Given the description of an element on the screen output the (x, y) to click on. 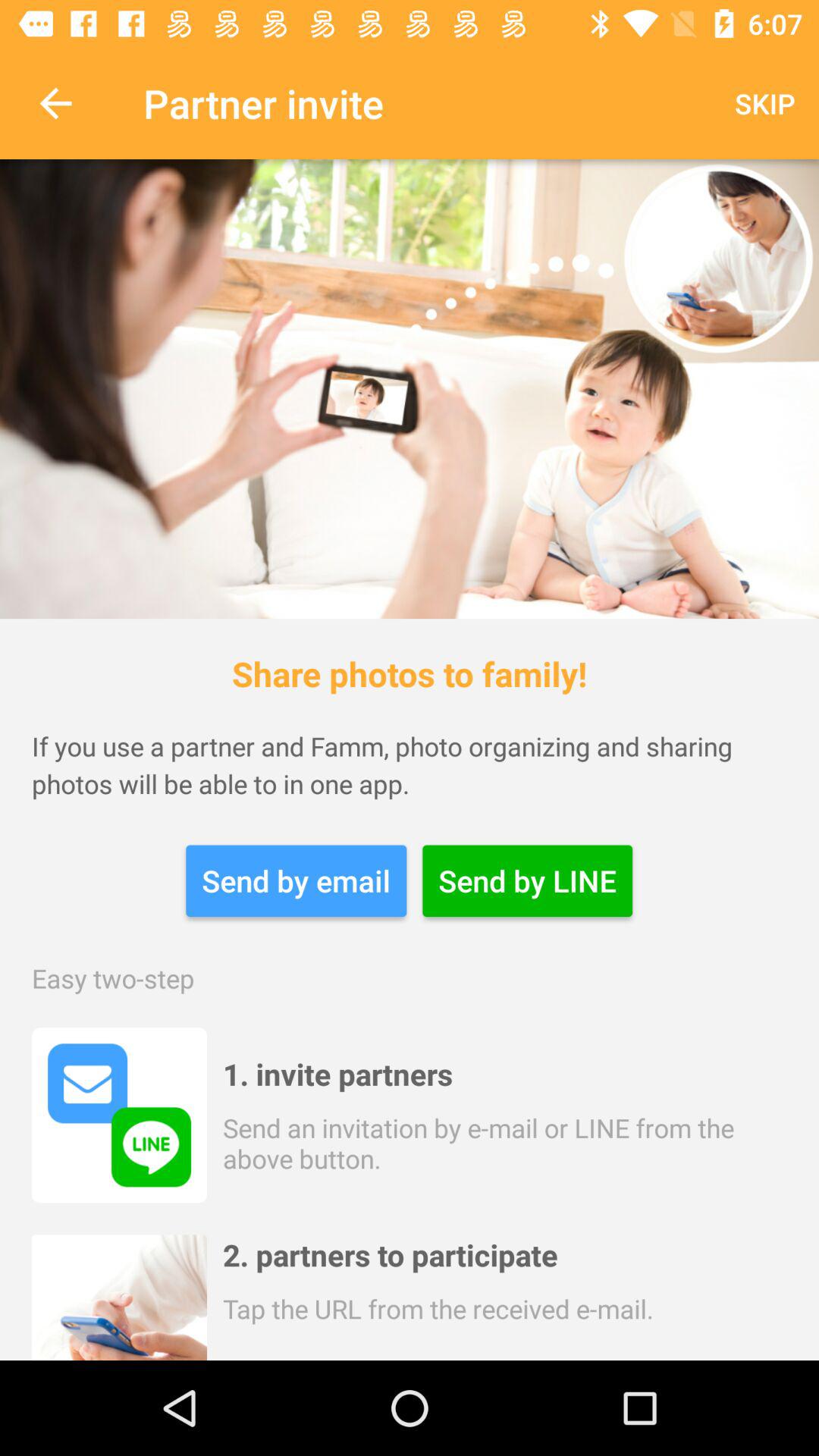
press the icon to the left of the partner invite item (55, 103)
